Given the description of an element on the screen output the (x, y) to click on. 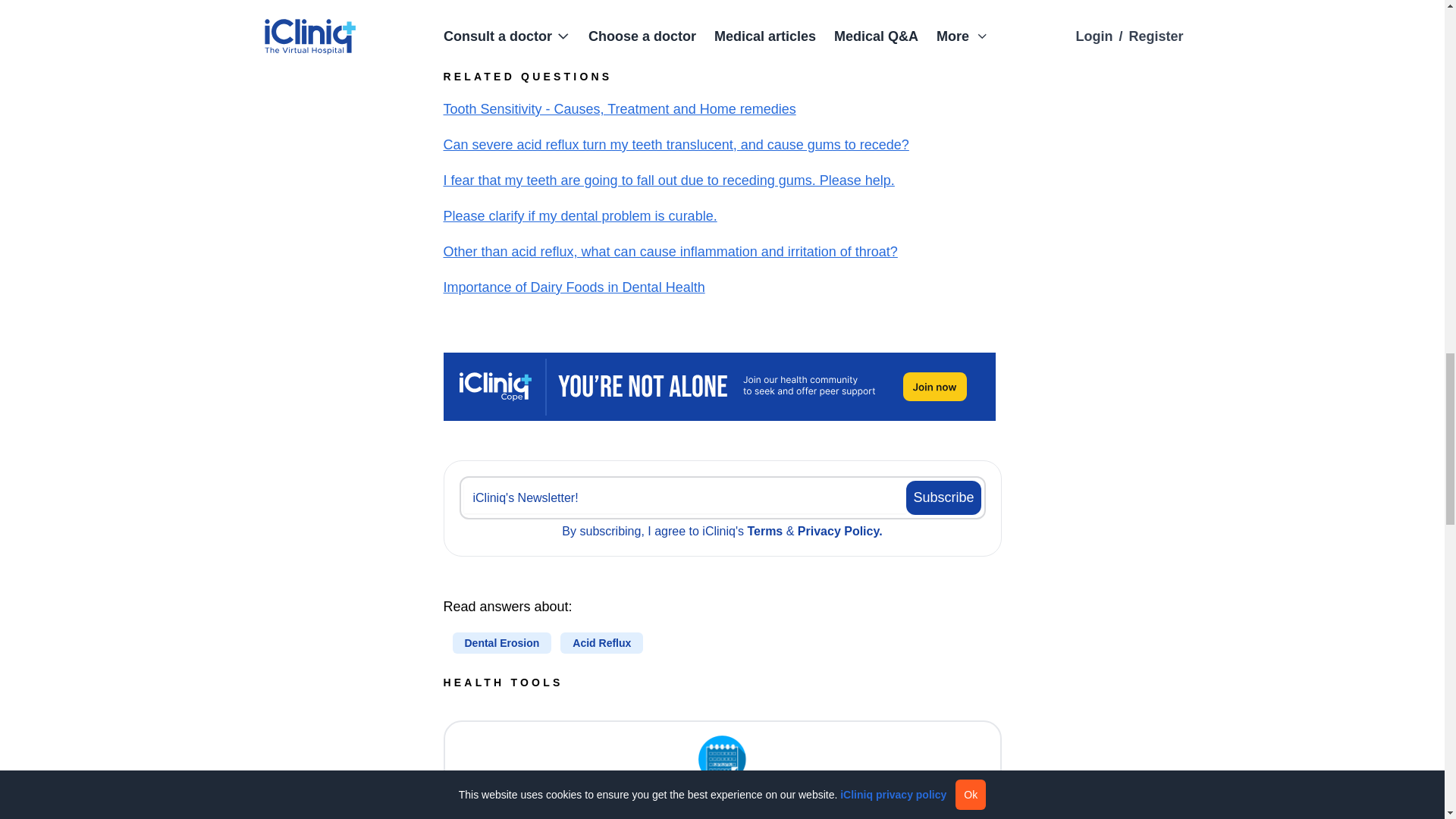
safe day (722, 763)
